Given the description of an element on the screen output the (x, y) to click on. 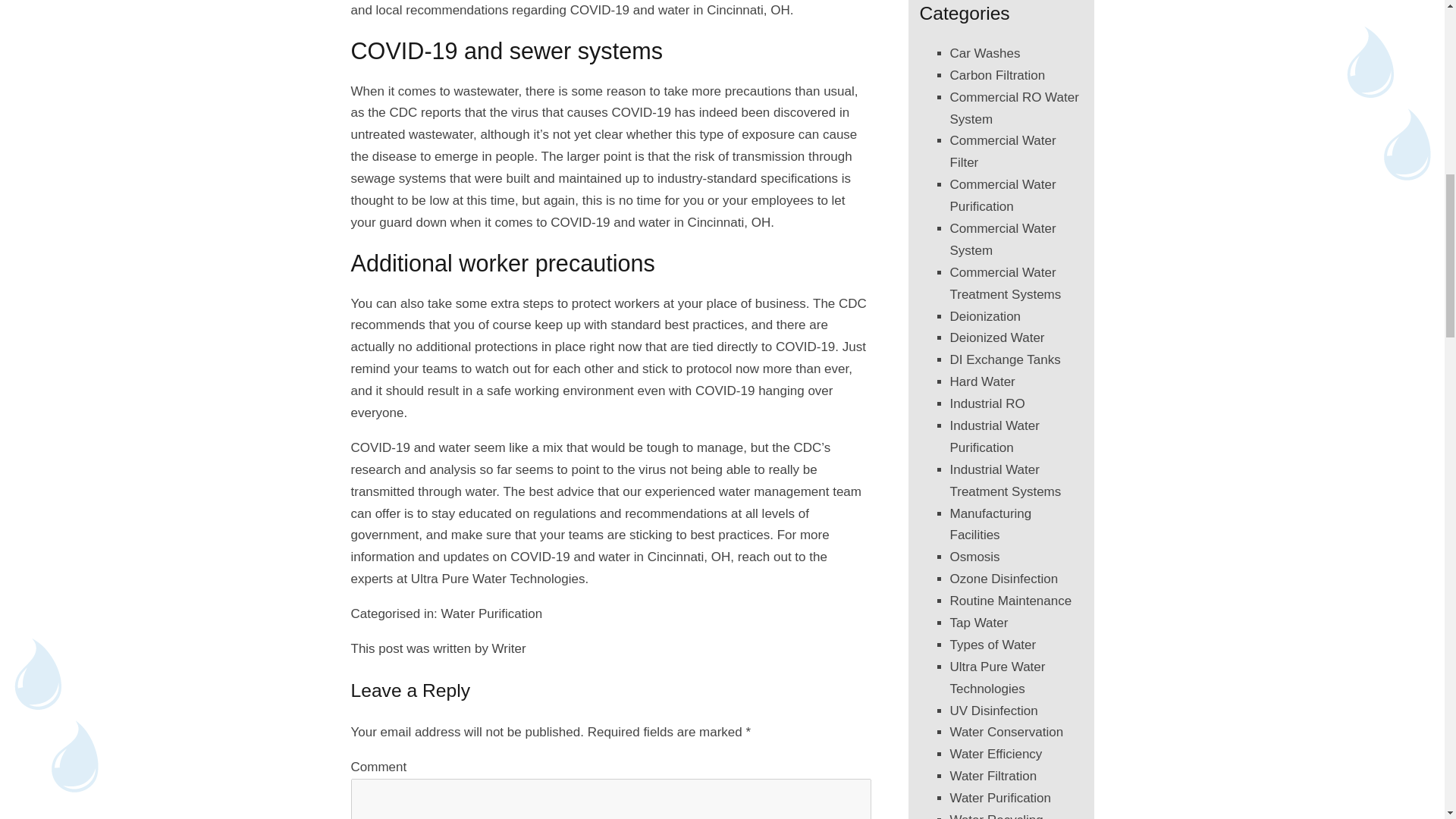
Carbon Filtration (997, 74)
Industrial Water Treatment Systems (1005, 480)
Commercial Water Purification (1002, 195)
Ozone Disinfection (1003, 578)
Hard Water (981, 381)
DI Exchange Tanks (1004, 359)
Manufacturing Facilities (989, 524)
Commercial Water Filter (1002, 151)
Commercial RO Water System (1013, 108)
Industrial RO (987, 403)
